Given the description of an element on the screen output the (x, y) to click on. 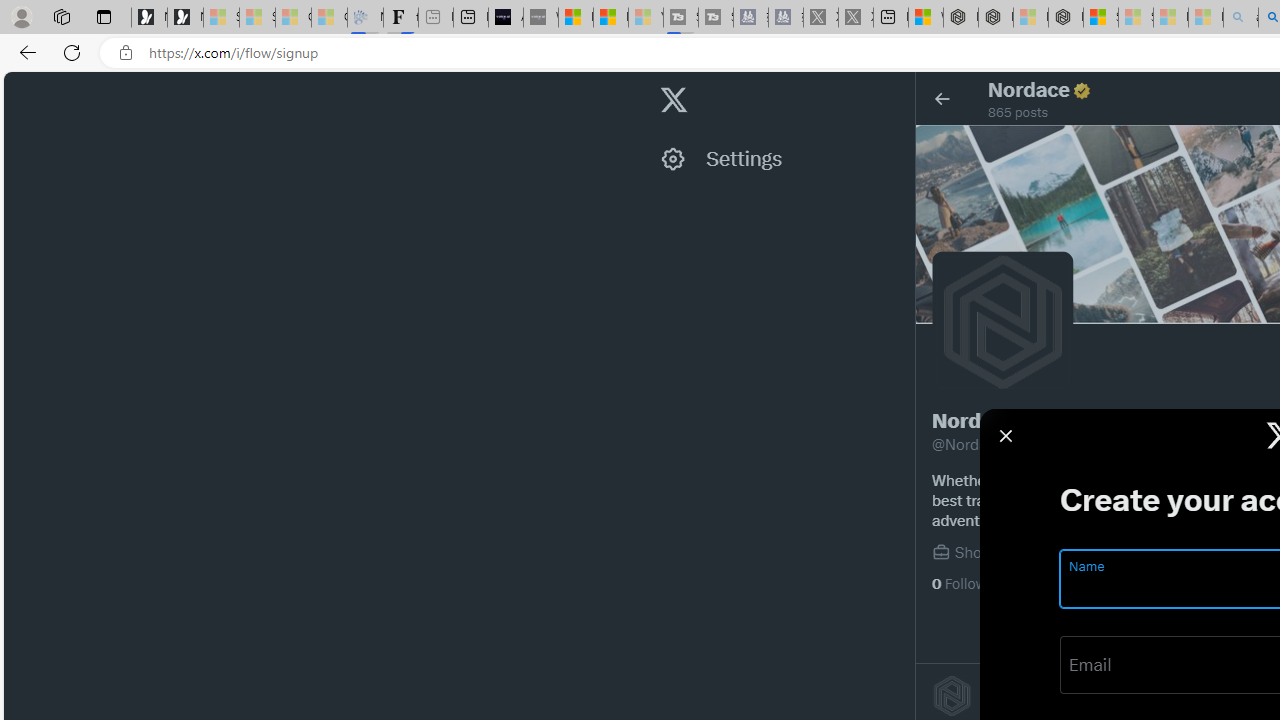
AI Voice Changer for PC and Mac - Voice.ai (506, 17)
Nordace - Nordace Siena Is Not An Ordinary Backpack (1065, 17)
What's the best AI voice generator? - voice.ai - Sleeping (540, 17)
